Given the description of an element on the screen output the (x, y) to click on. 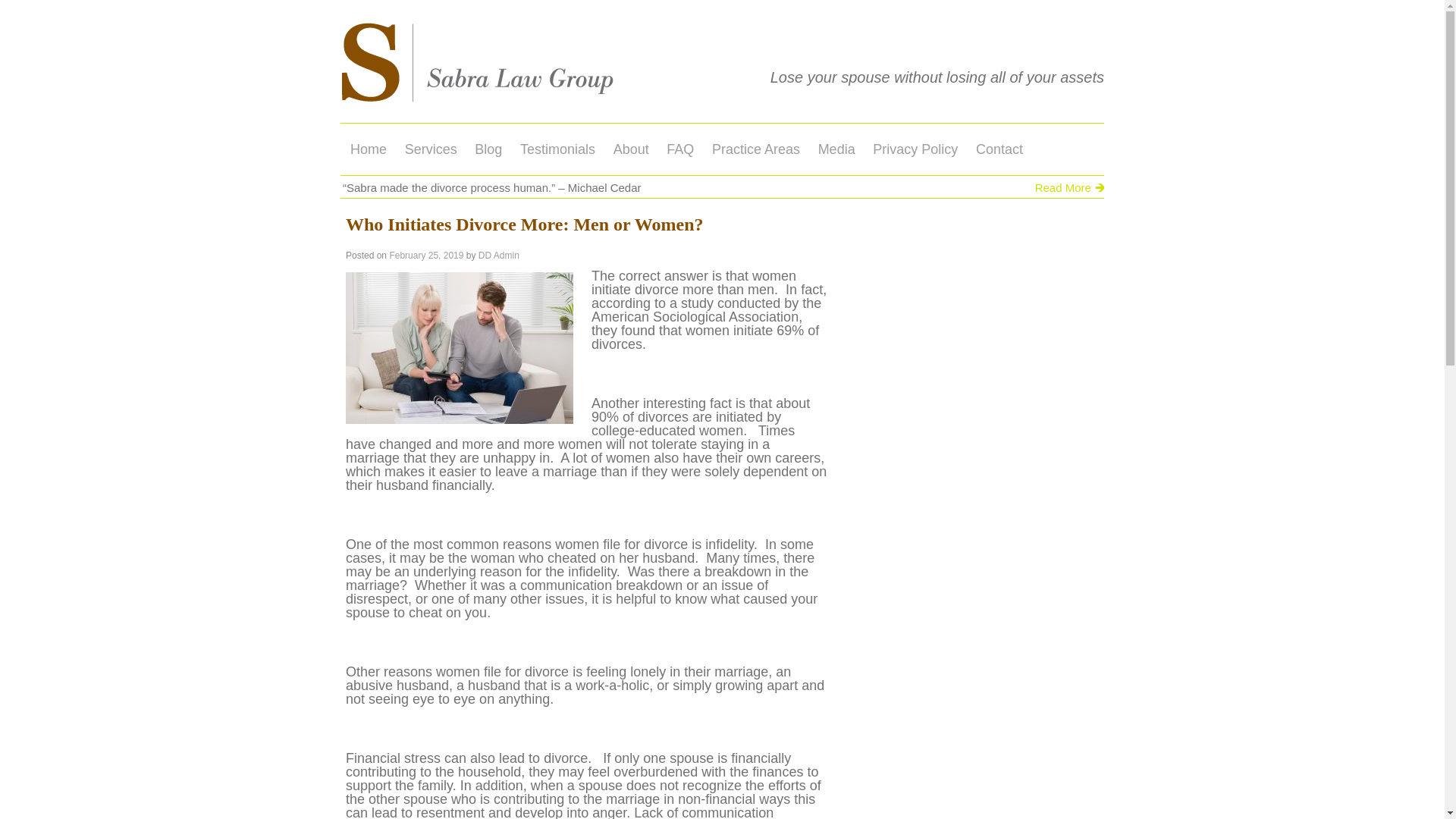
3:38 am (425, 255)
February 25, 2019 (425, 255)
DD Admin (499, 255)
Contact (999, 149)
Practice Areas (756, 149)
Media (836, 149)
Testimonials (557, 149)
View all posts by DD Admin (499, 255)
About (630, 149)
Services (430, 149)
FAQ (680, 149)
Home (368, 149)
Blog (488, 149)
Privacy Policy (914, 149)
Read More (1070, 187)
